Given the description of an element on the screen output the (x, y) to click on. 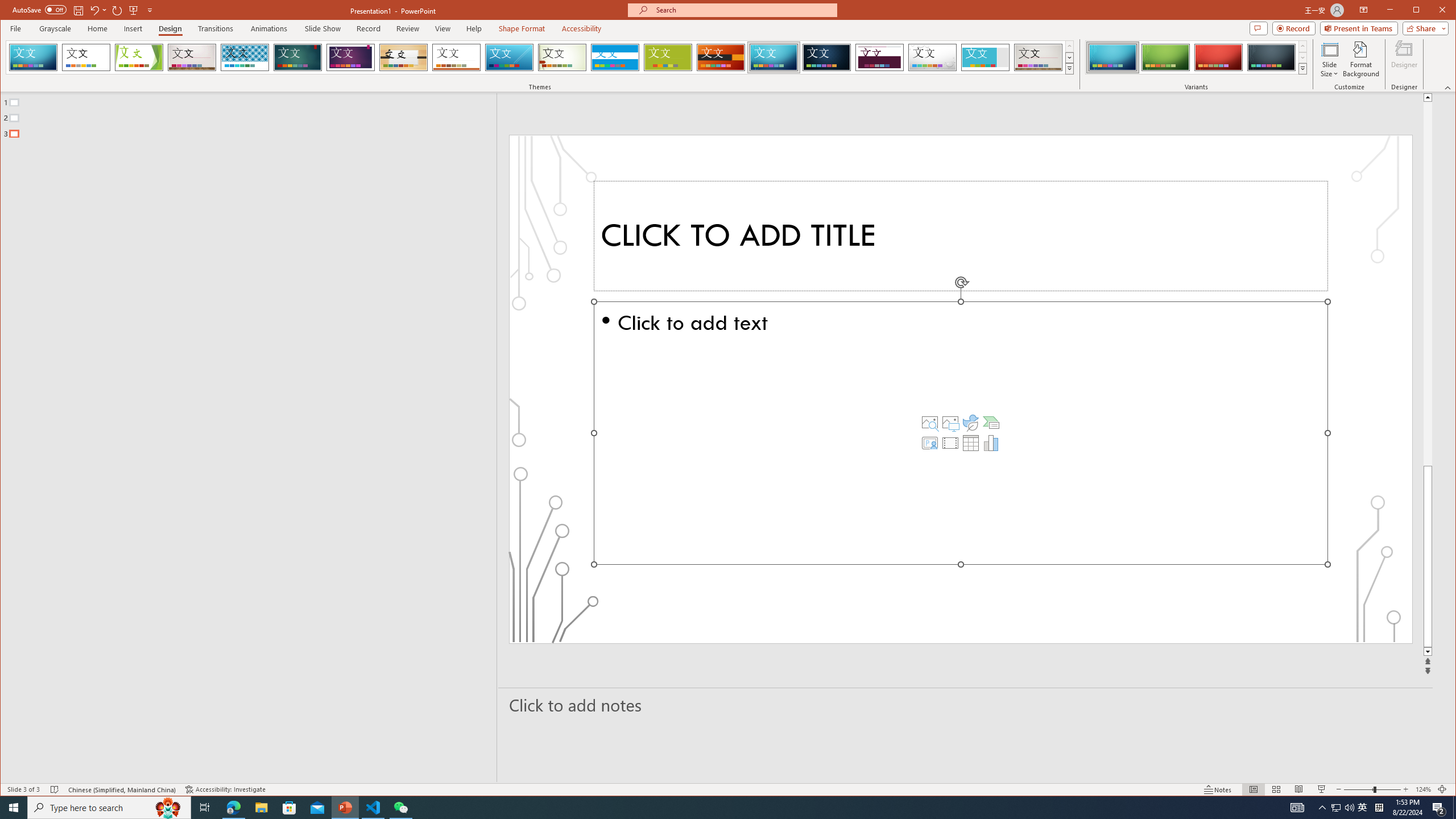
Zoom 124% (1422, 789)
